Given the description of an element on the screen output the (x, y) to click on. 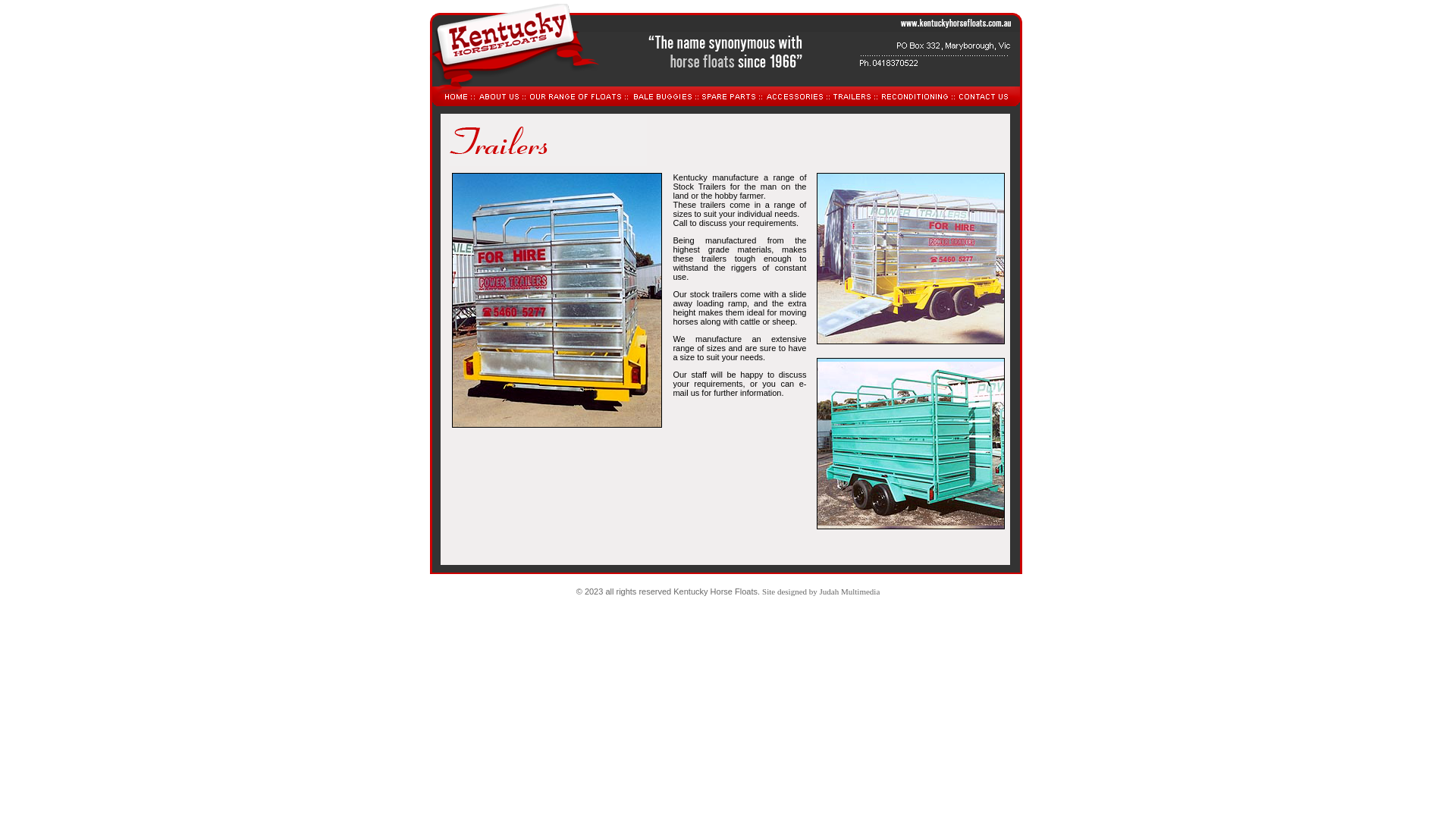
Judah Multimedia Element type: text (849, 591)
